Given the description of an element on the screen output the (x, y) to click on. 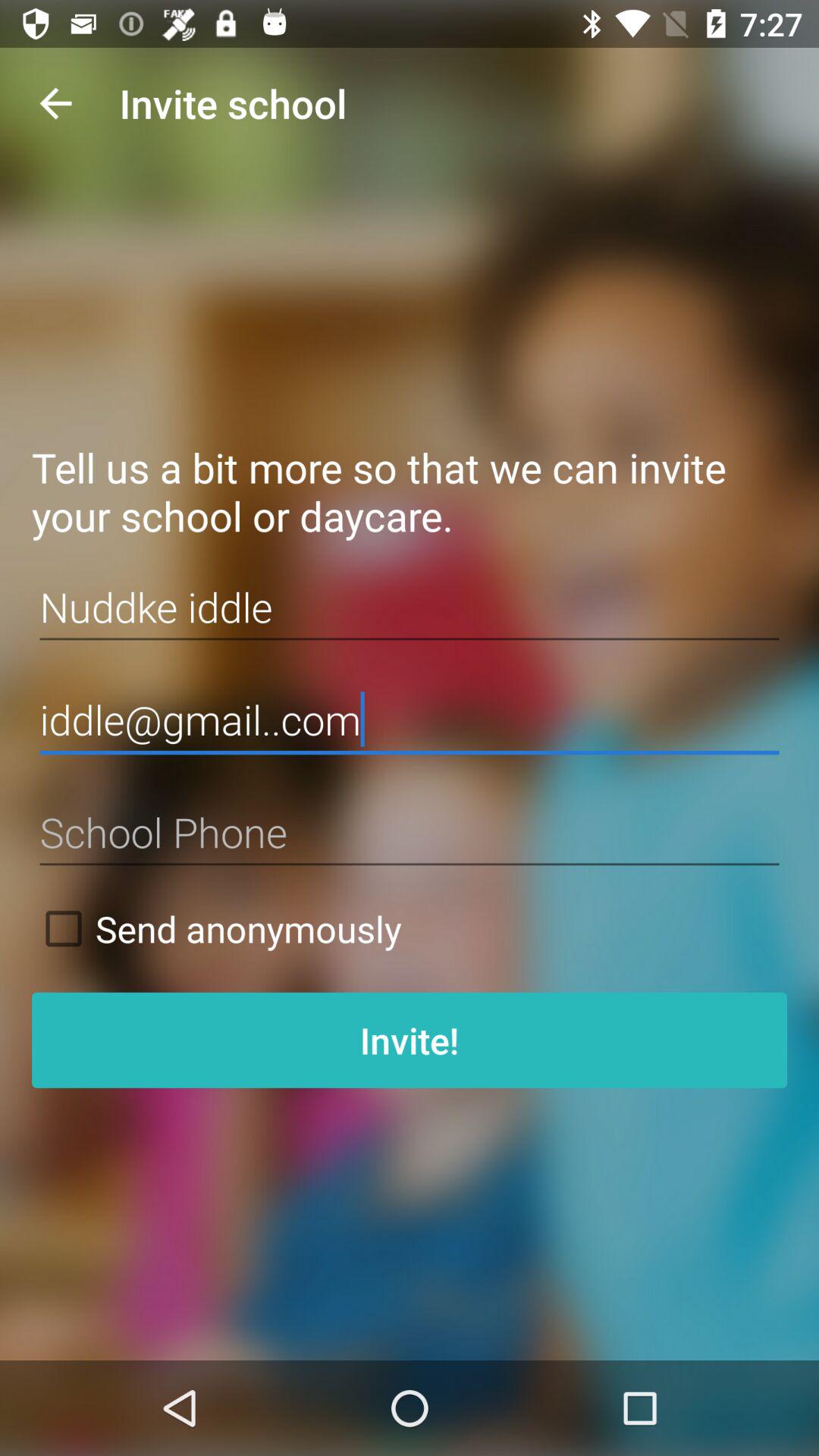
text box to enter phone number (409, 832)
